Given the description of an element on the screen output the (x, y) to click on. 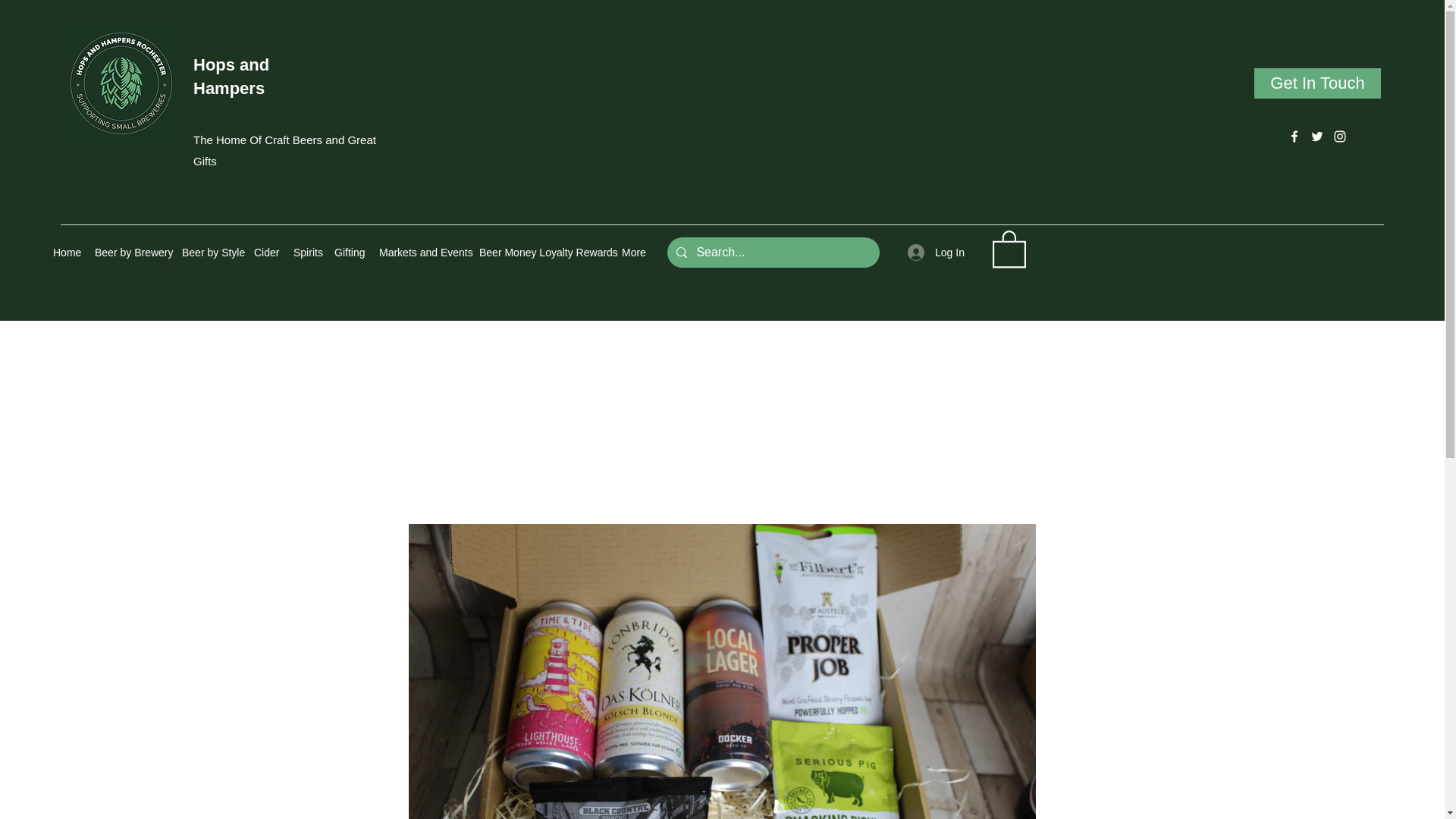
Beer by Style (210, 252)
Get In Touch (1316, 82)
Hops and Hampers (231, 76)
